Given the description of an element on the screen output the (x, y) to click on. 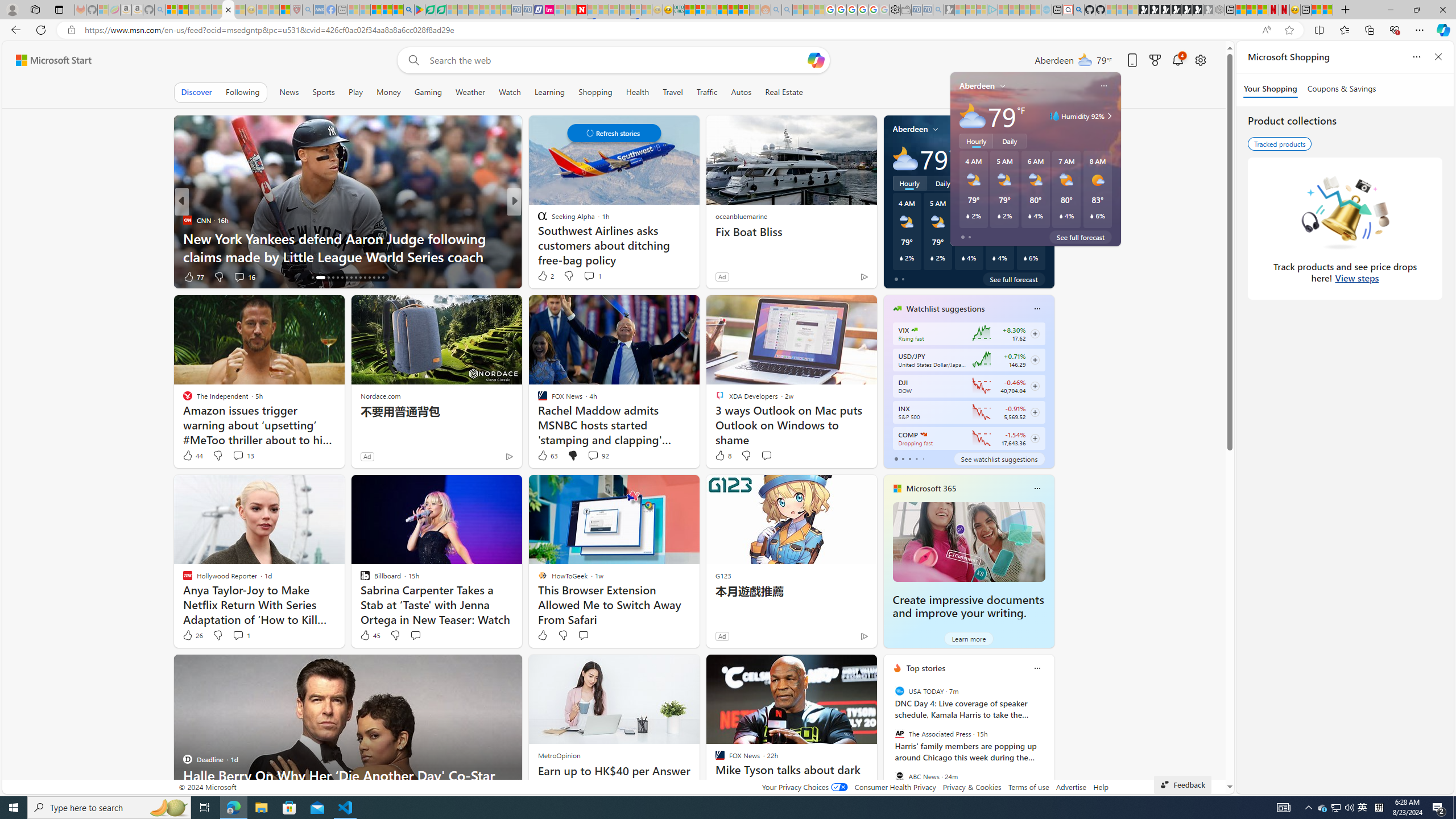
View comments 20 Comment (592, 276)
next (1047, 741)
Create impressive documents and improve your writing. (967, 606)
26 Like (192, 634)
Kinda Frugal - MSN (733, 9)
HowToGeek (537, 219)
